Given the description of an element on the screen output the (x, y) to click on. 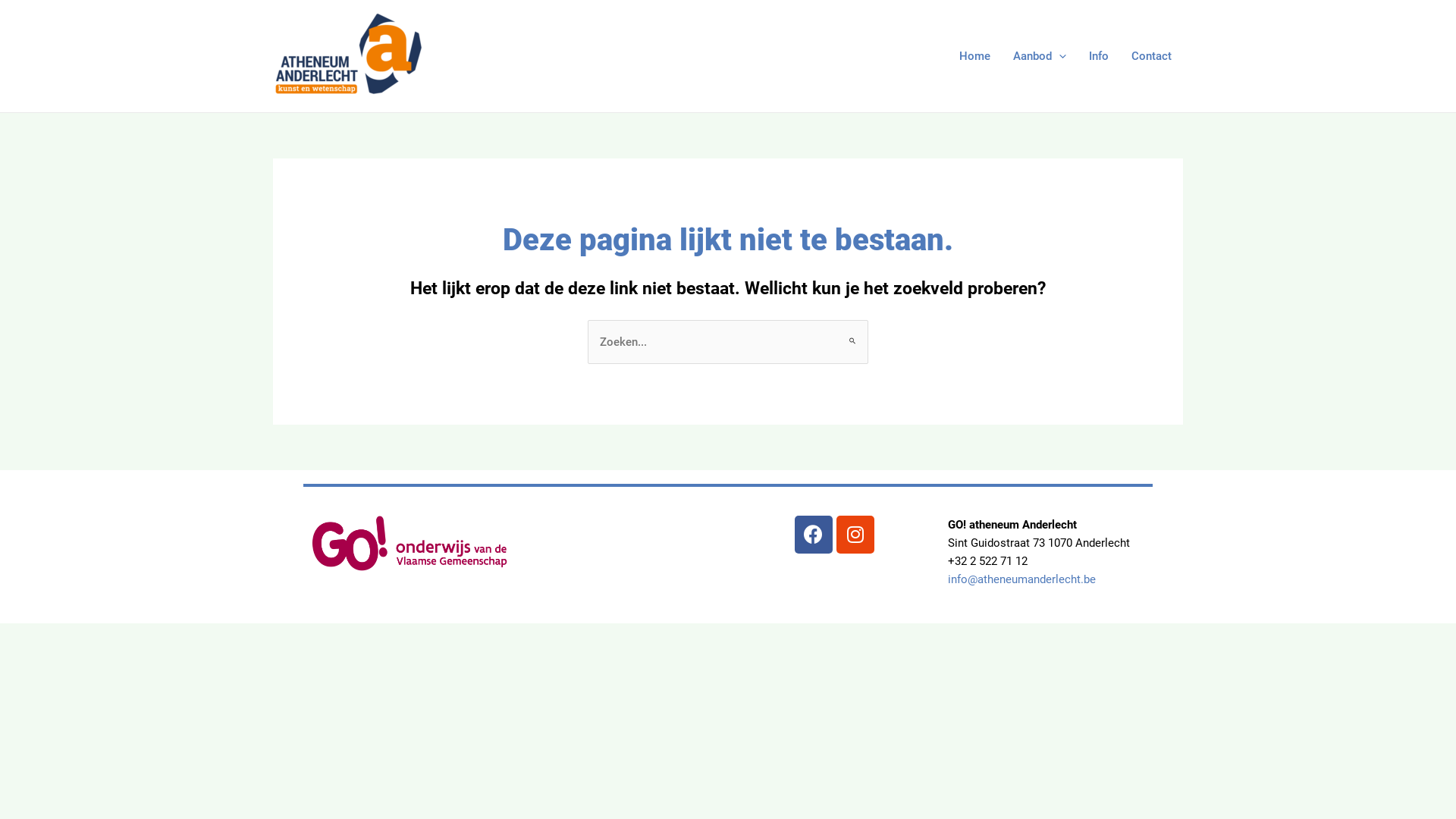
Zoeken Element type: text (851, 333)
Home Element type: text (974, 55)
Info Element type: text (1098, 55)
Instagram Element type: text (854, 534)
Contact Element type: text (1151, 55)
info@atheneumanderlecht.be Element type: text (1021, 579)
Facebook Element type: text (813, 534)
Aanbod Element type: text (1039, 55)
